Given the description of an element on the screen output the (x, y) to click on. 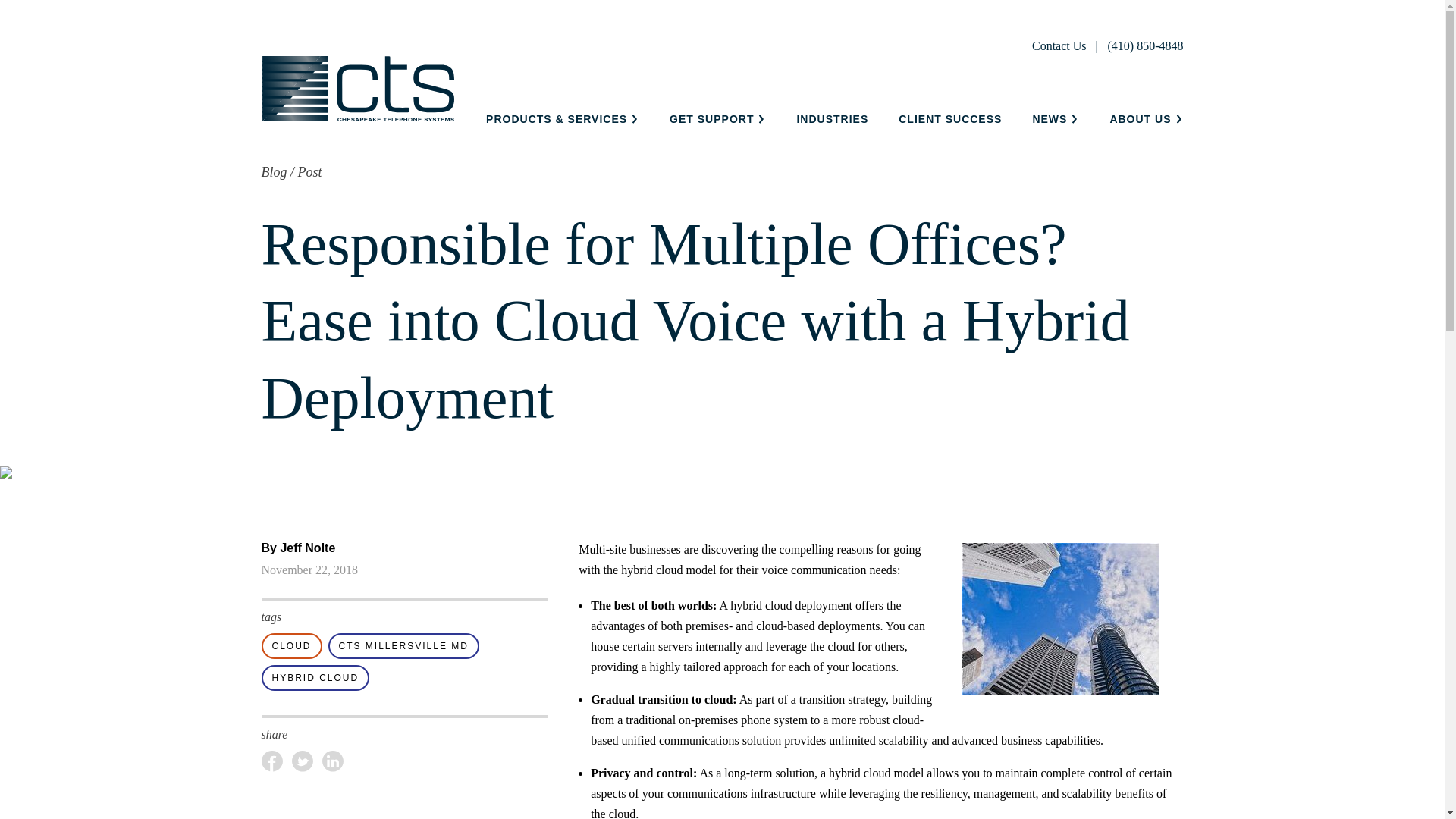
CLIENT SUCCESS (949, 118)
Contact Us (1060, 45)
INDUSTRIES (831, 118)
